Given the description of an element on the screen output the (x, y) to click on. 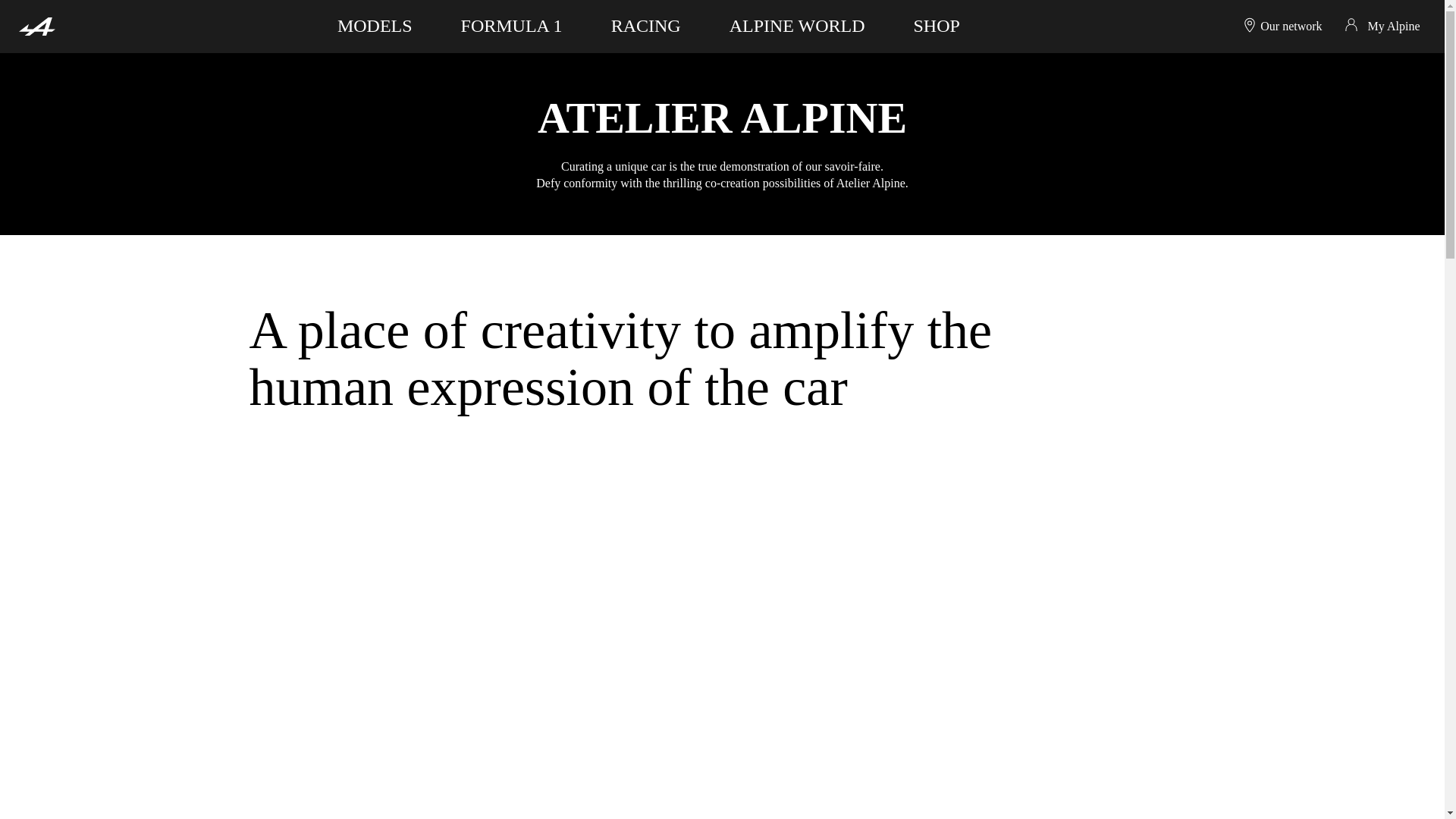
ALPINE WORLD (796, 24)
 FORMULA 1 (511, 24)
RACING (646, 24)
MODELS (374, 24)
FORMULA 1 (511, 24)
Alpine (36, 26)
MODELS (374, 24)
